Given the description of an element on the screen output the (x, y) to click on. 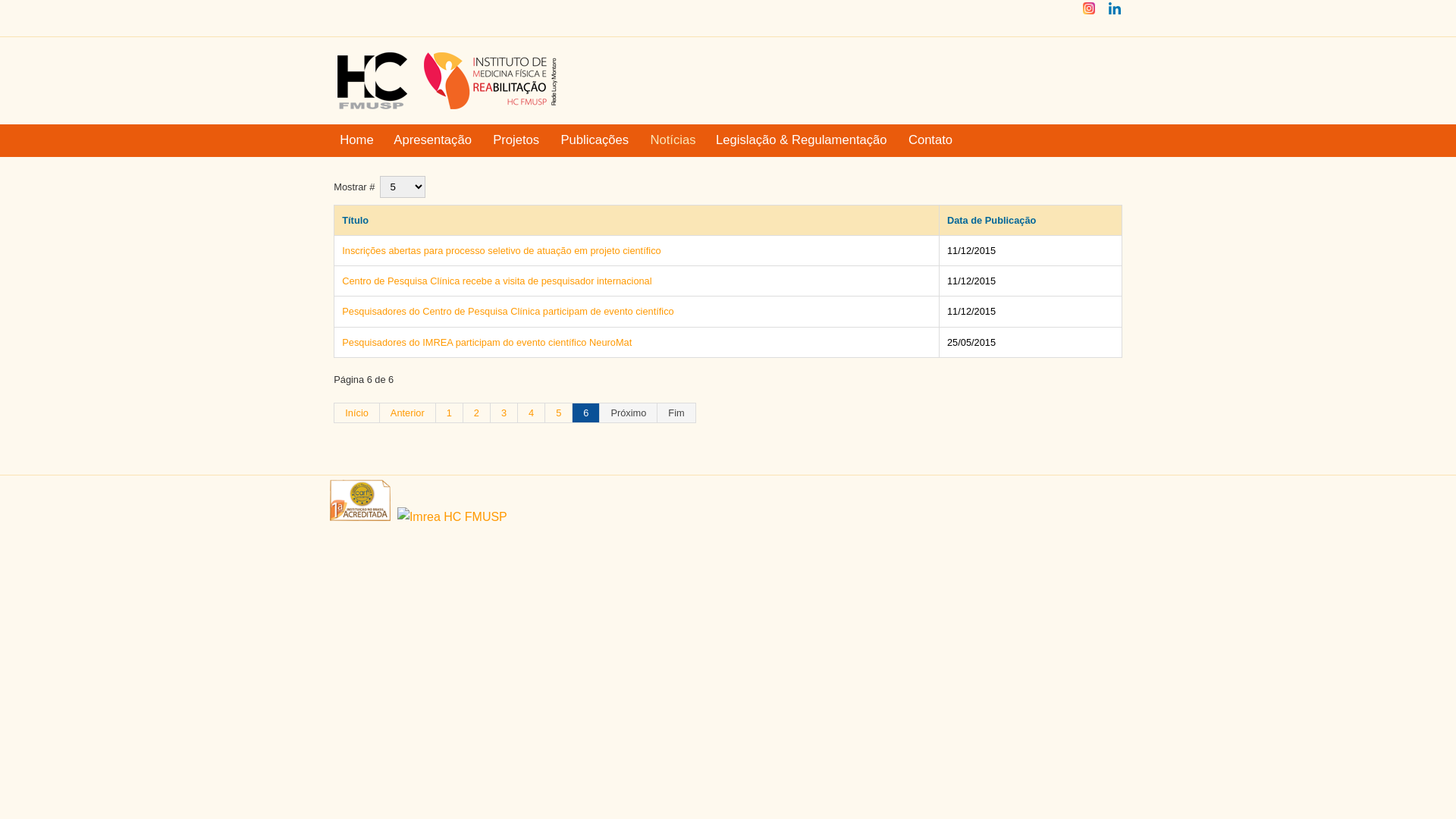
Contato Element type: text (930, 140)
1 Element type: text (449, 412)
Projetos Element type: text (516, 140)
LinkedIn Element type: hover (1114, 12)
3 Element type: text (503, 412)
2 Element type: text (476, 412)
Instagram Element type: hover (1088, 12)
4 Element type: text (531, 412)
Anterior Element type: text (407, 412)
Home Element type: text (356, 140)
5 Element type: text (558, 412)
   Element type: text (448, 516)
